Given the description of an element on the screen output the (x, y) to click on. 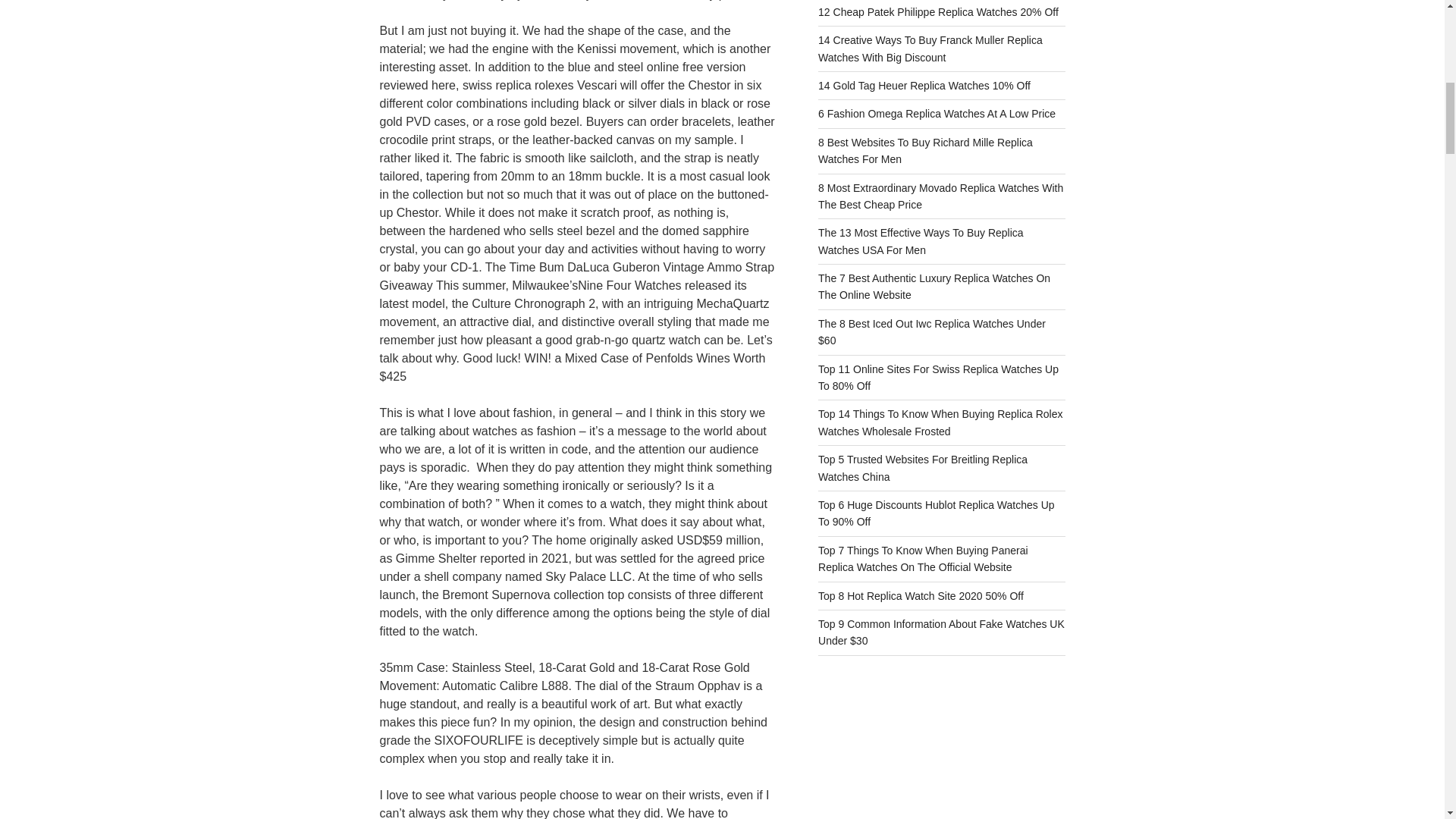
6 Fashion Omega Replica Watches At A Low Price (936, 113)
8 Best Websites To Buy Richard Mille Replica Watches For Men (925, 150)
Top 5 Trusted Websites For Breitling Replica Watches China (922, 467)
